Given the description of an element on the screen output the (x, y) to click on. 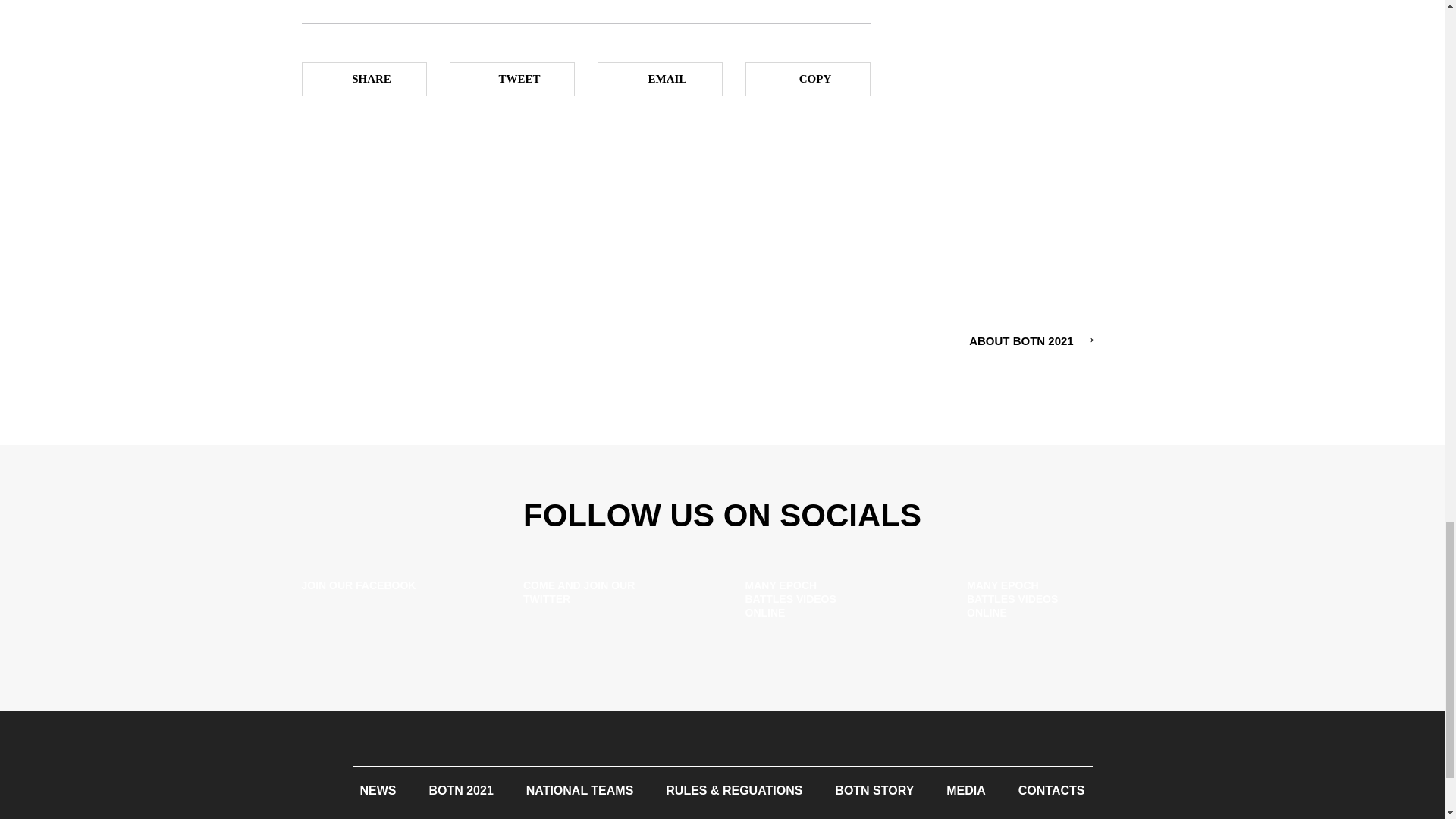
SHARE (363, 79)
JOIN OUR FACEBOOK (389, 602)
COPY (806, 79)
MANY EPOCH BATTLES VIDEOS ONLINE (833, 602)
COME AND JOIN OUR TWITTER (611, 602)
TWEET (510, 79)
EMAIL (659, 79)
MANY EPOCH BATTLES VIDEOS ONLINE (1054, 602)
